Given the description of an element on the screen output the (x, y) to click on. 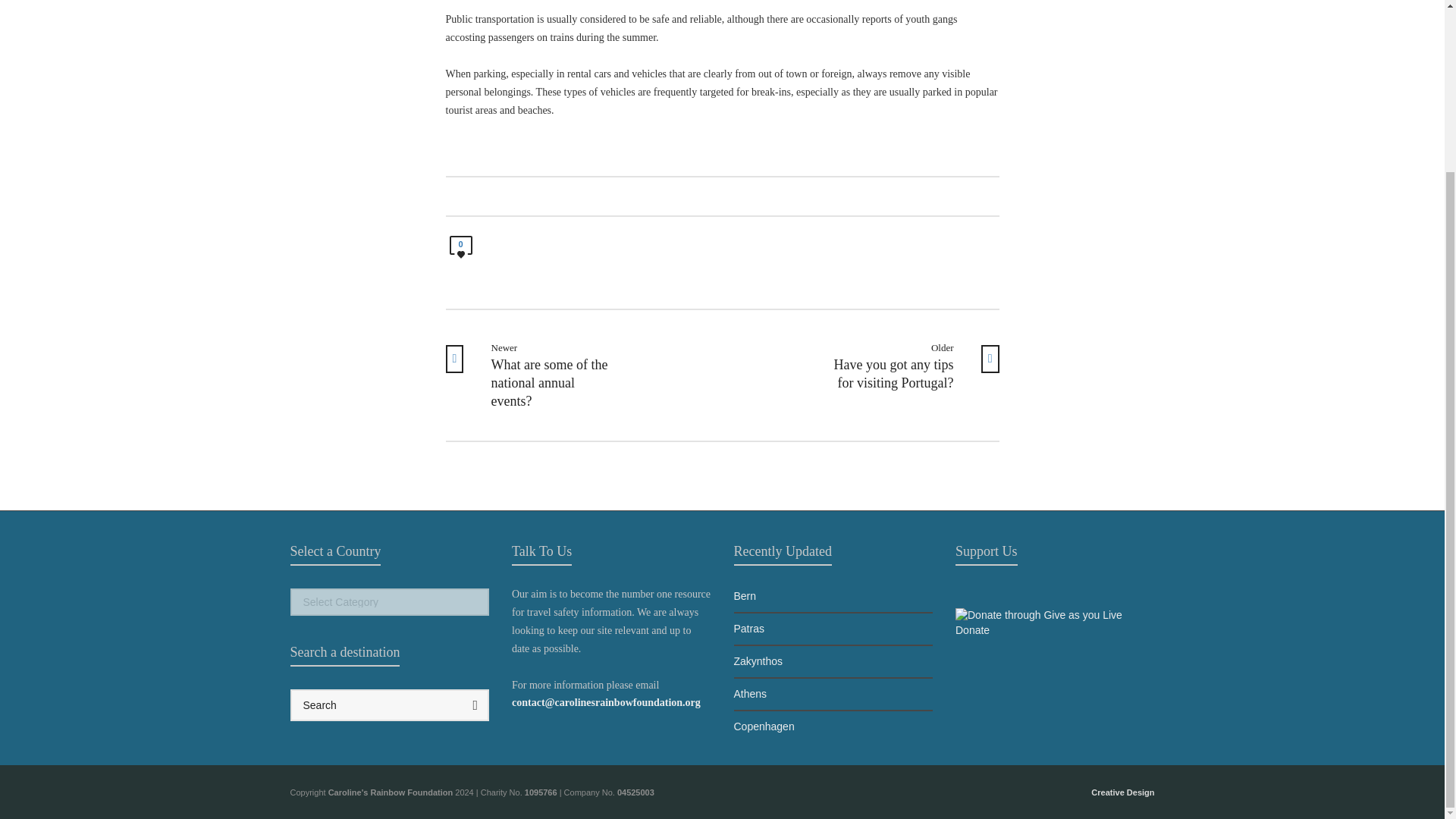
Zakynthos (833, 661)
Search (537, 375)
0 (905, 366)
Copenhagen (389, 729)
Creative Design (459, 248)
Athens (833, 726)
Patras (1122, 791)
Bern (833, 694)
